Given the description of an element on the screen output the (x, y) to click on. 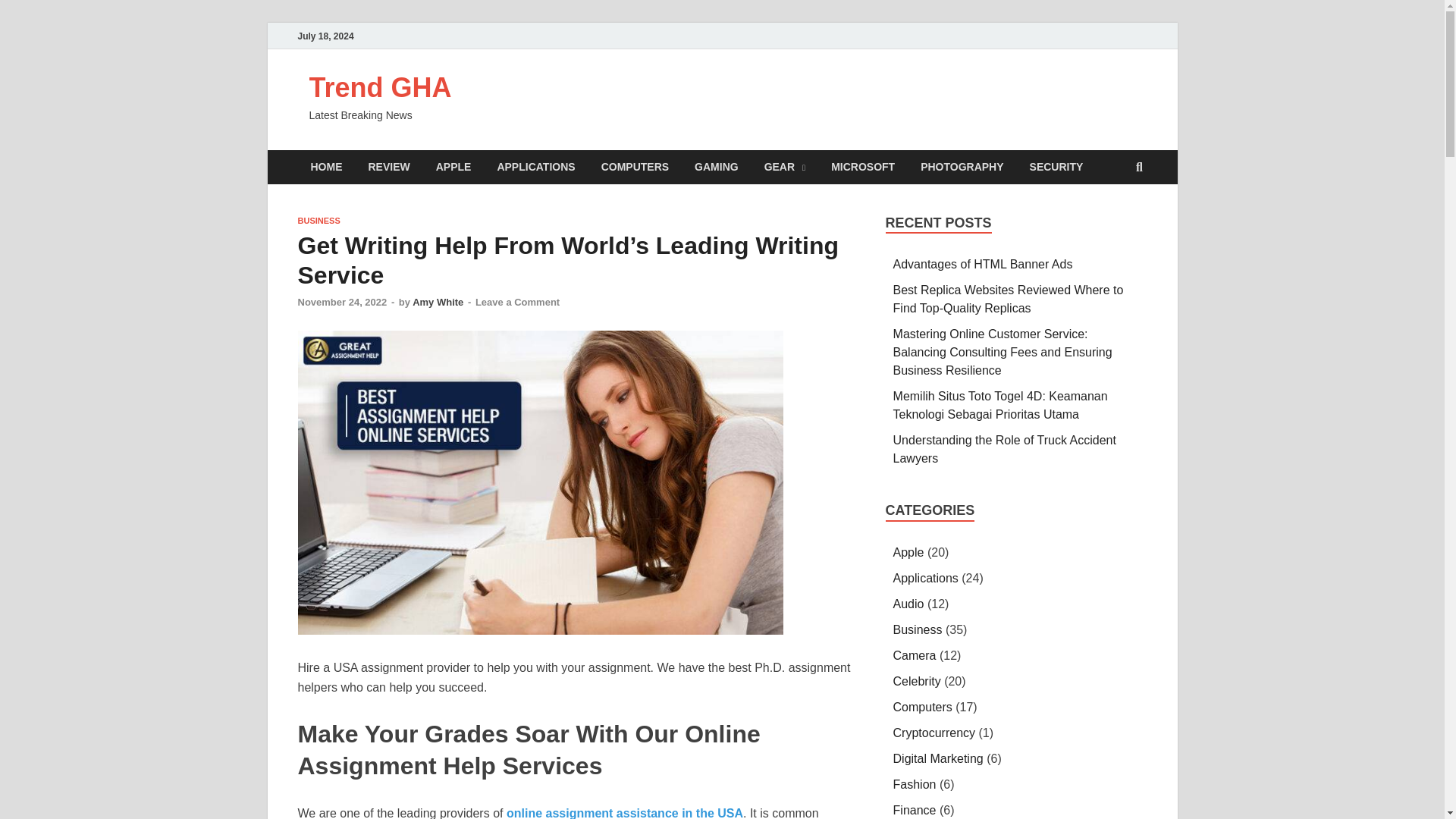
APPLE (453, 166)
COMPUTERS (634, 166)
November 24, 2022 (342, 301)
HOME (326, 166)
Leave a Comment (517, 301)
PHOTOGRAPHY (961, 166)
GEAR (784, 166)
online assignment assistance in the USA (624, 812)
GAMING (716, 166)
MICROSOFT (862, 166)
BUSINESS (318, 220)
SECURITY (1056, 166)
REVIEW (388, 166)
Trend GHA (379, 87)
Amy White (437, 301)
